Given the description of an element on the screen output the (x, y) to click on. 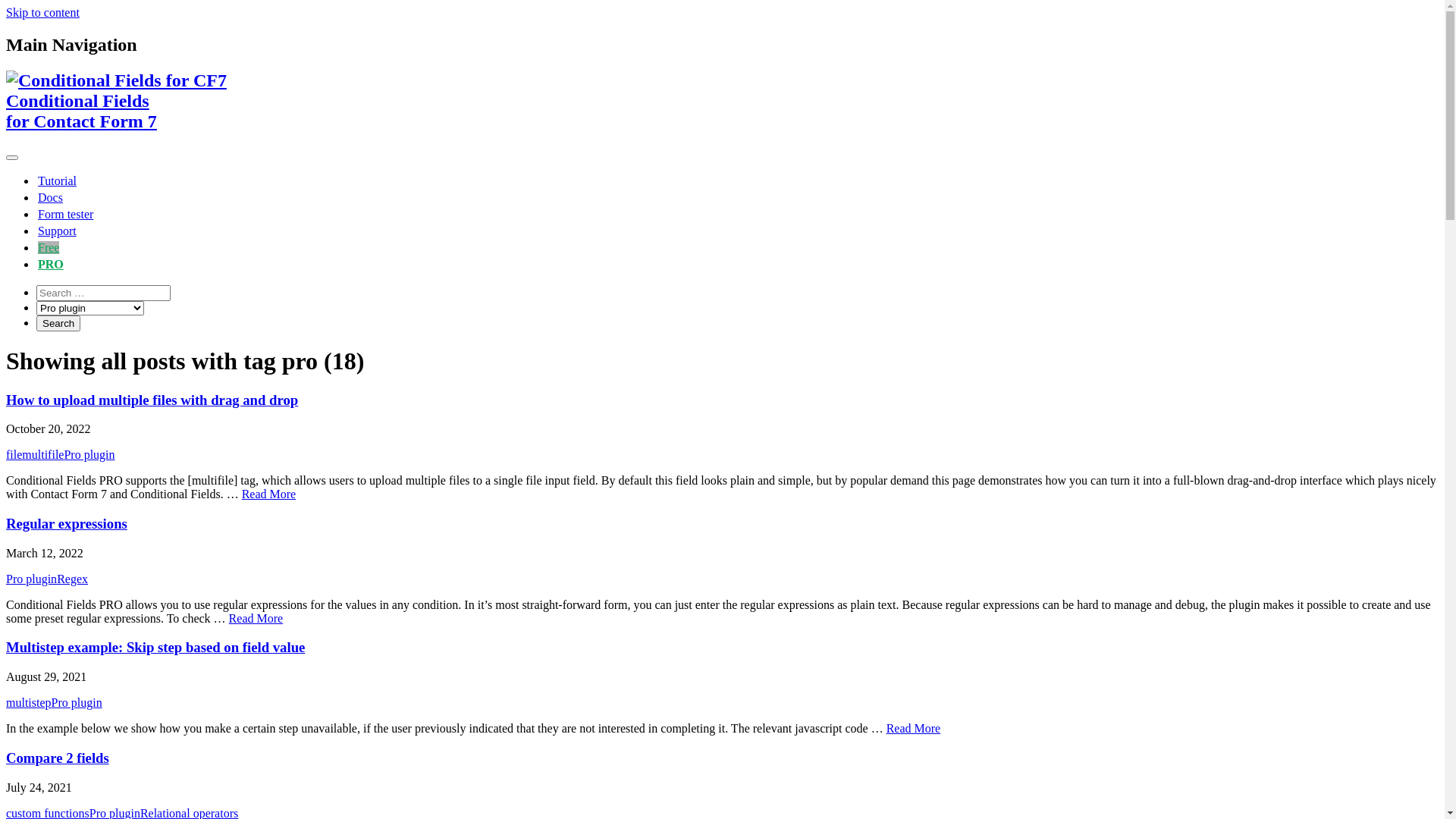
Search Element type: text (58, 323)
Read More Element type: text (256, 617)
Pro plugin Element type: text (76, 702)
Support Element type: text (56, 230)
How to upload multiple files with drag and drop Element type: text (152, 399)
Pro plugin Element type: text (31, 578)
Regex Element type: text (71, 578)
Docs Element type: text (49, 197)
PRO Element type: text (50, 263)
Regular expressions Element type: text (66, 523)
multifile Element type: text (42, 454)
Read More Element type: text (913, 727)
Conditional Fields
for Contact Form 7 Element type: text (722, 121)
Pro plugin Element type: text (88, 454)
multistep Element type: text (28, 702)
file Element type: text (13, 454)
Read More Element type: text (268, 493)
Form tester Element type: text (65, 213)
Free Element type: text (48, 247)
Skip to content Element type: text (42, 12)
Multistep example: Skip step based on field value Element type: text (155, 647)
Compare 2 fields Element type: text (57, 757)
Tutorial Element type: text (56, 180)
